Given the description of an element on the screen output the (x, y) to click on. 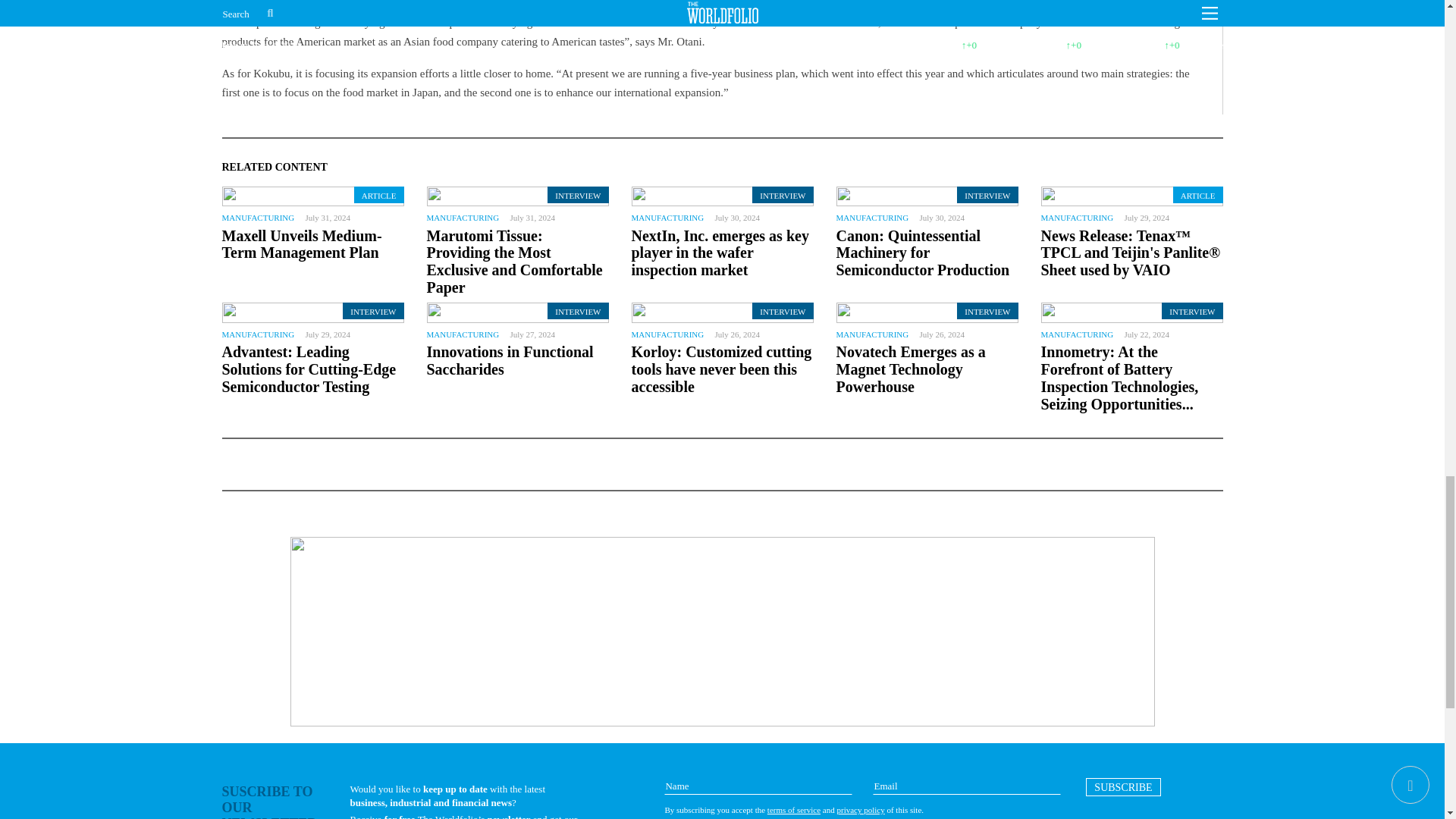
SUBSCRIBE (1123, 787)
